Given the description of an element on the screen output the (x, y) to click on. 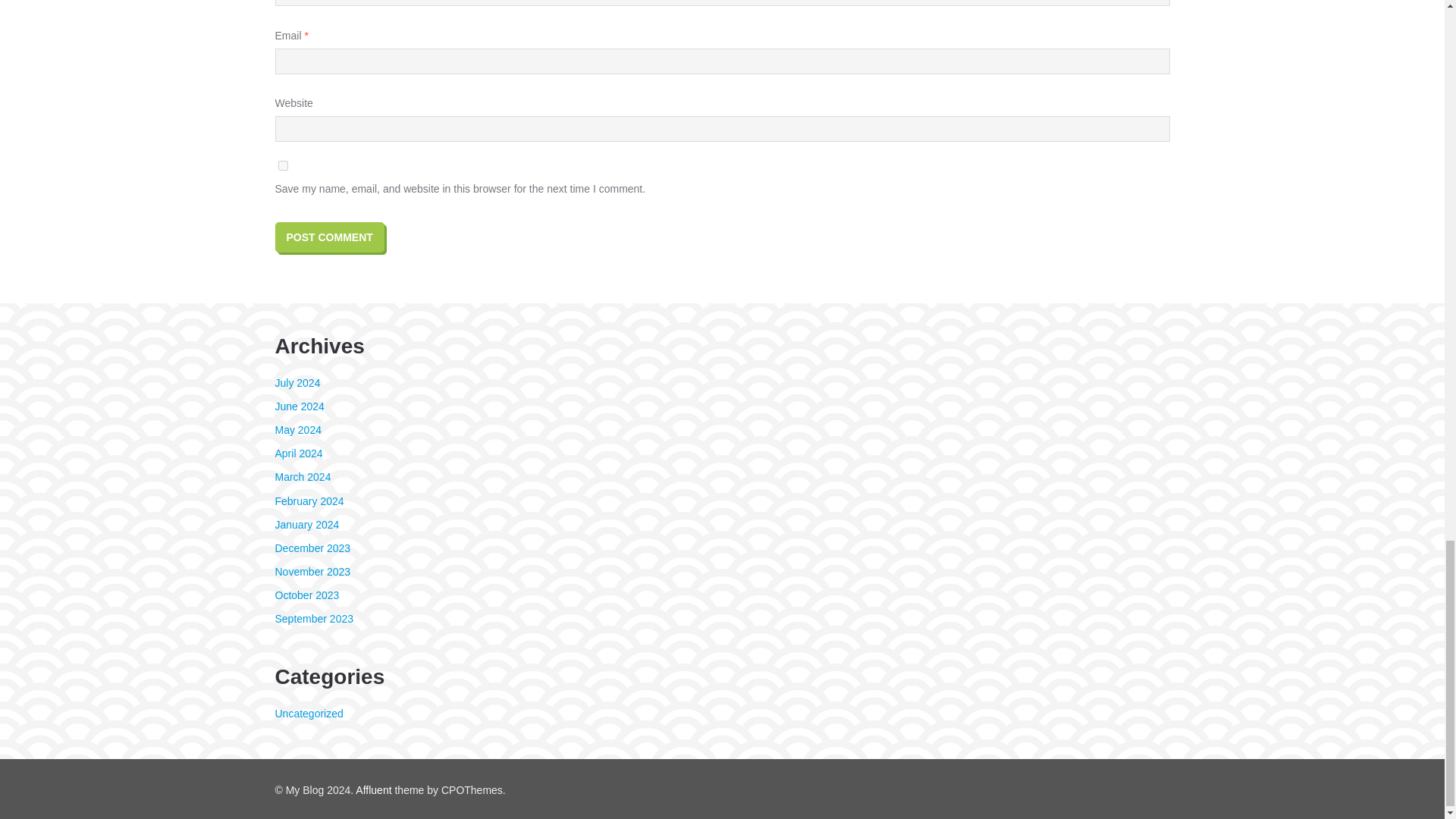
November 2023 (312, 571)
Affluent (373, 789)
September 2023 (314, 618)
Post Comment (329, 236)
May 2024 (297, 429)
July 2024 (297, 382)
yes (282, 165)
April 2024 (298, 453)
Uncategorized (308, 713)
March 2024 (302, 476)
December 2023 (312, 548)
June 2024 (299, 406)
February 2024 (309, 500)
Post Comment (329, 236)
January 2024 (307, 524)
